Given the description of an element on the screen output the (x, y) to click on. 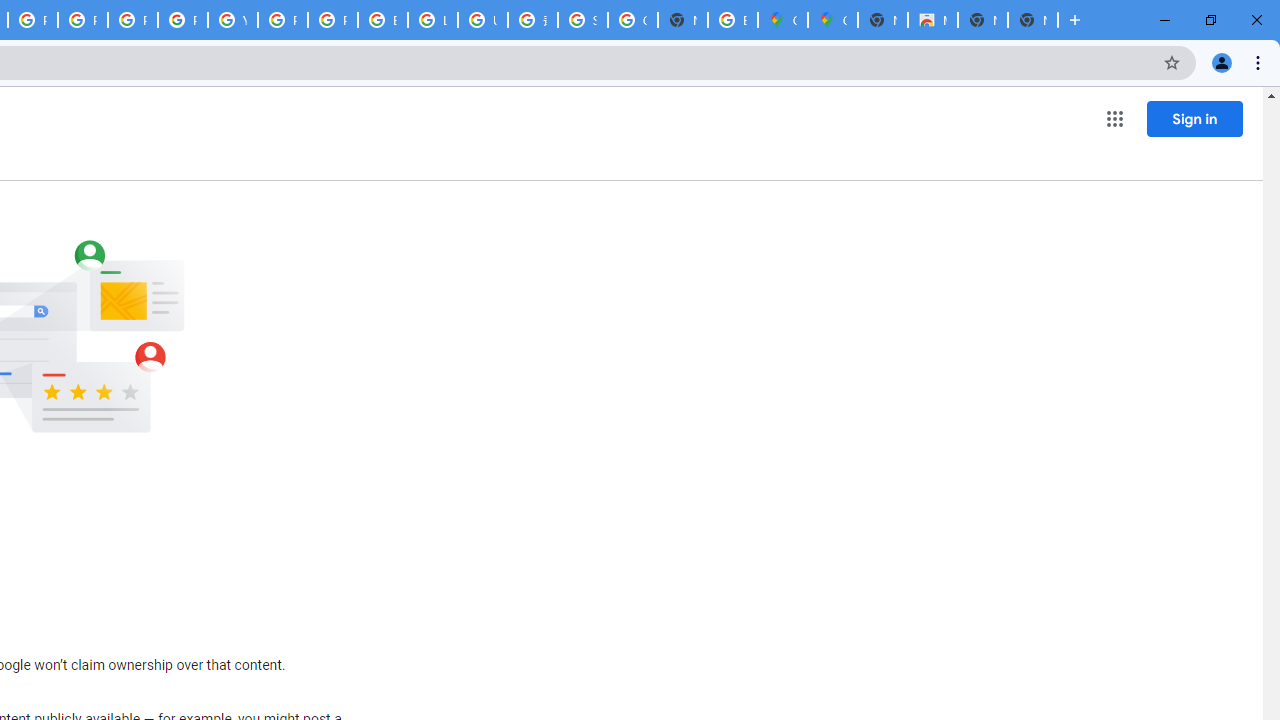
Sign in - Google Accounts (582, 20)
Explore new street-level details - Google Maps Help (732, 20)
Privacy Help Center - Policies Help (132, 20)
New Tab (882, 20)
New Tab (1032, 20)
